Given the description of an element on the screen output the (x, y) to click on. 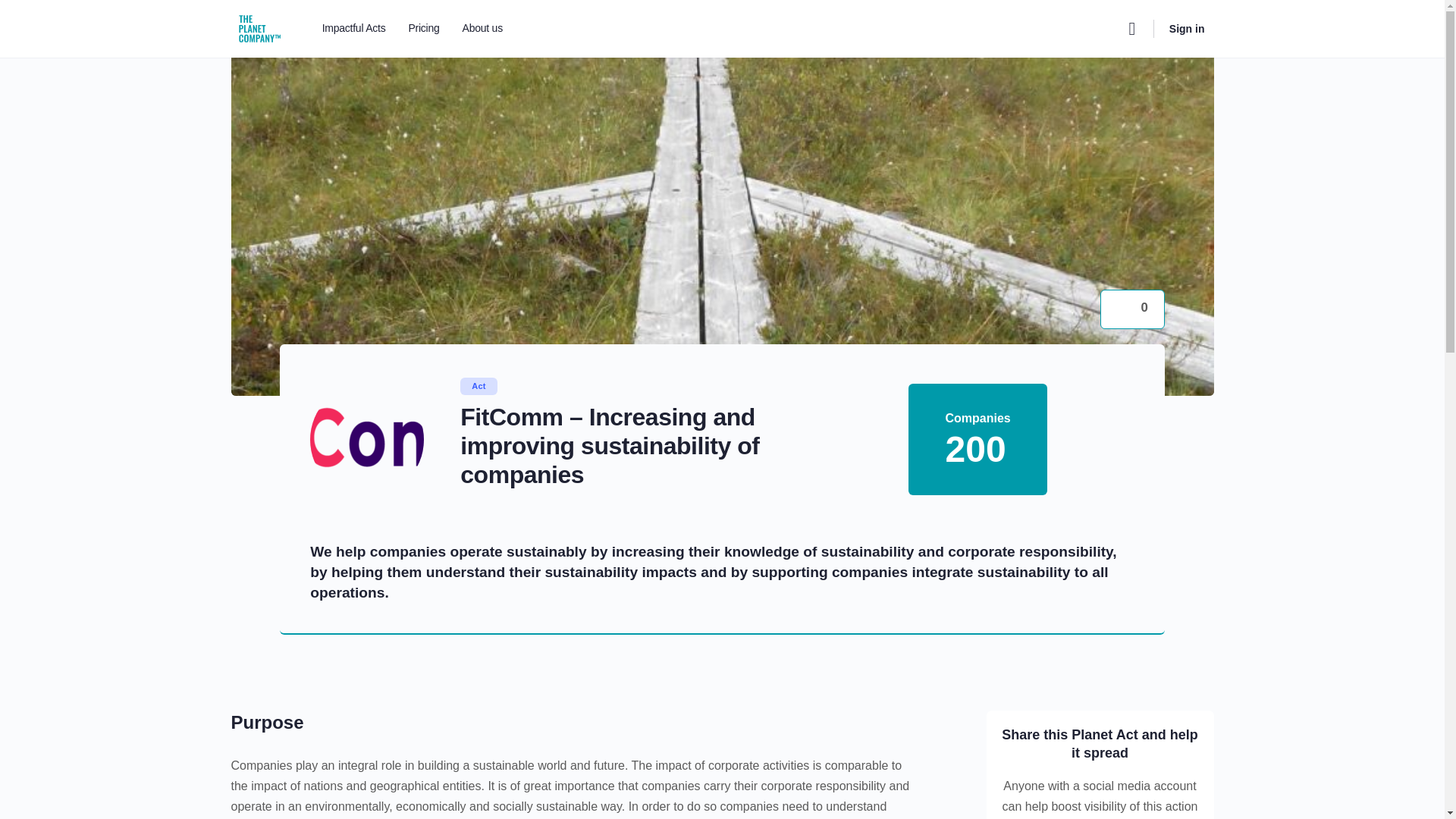
Sign in (1187, 28)
About us (482, 28)
Impactful Acts (353, 28)
